Given the description of an element on the screen output the (x, y) to click on. 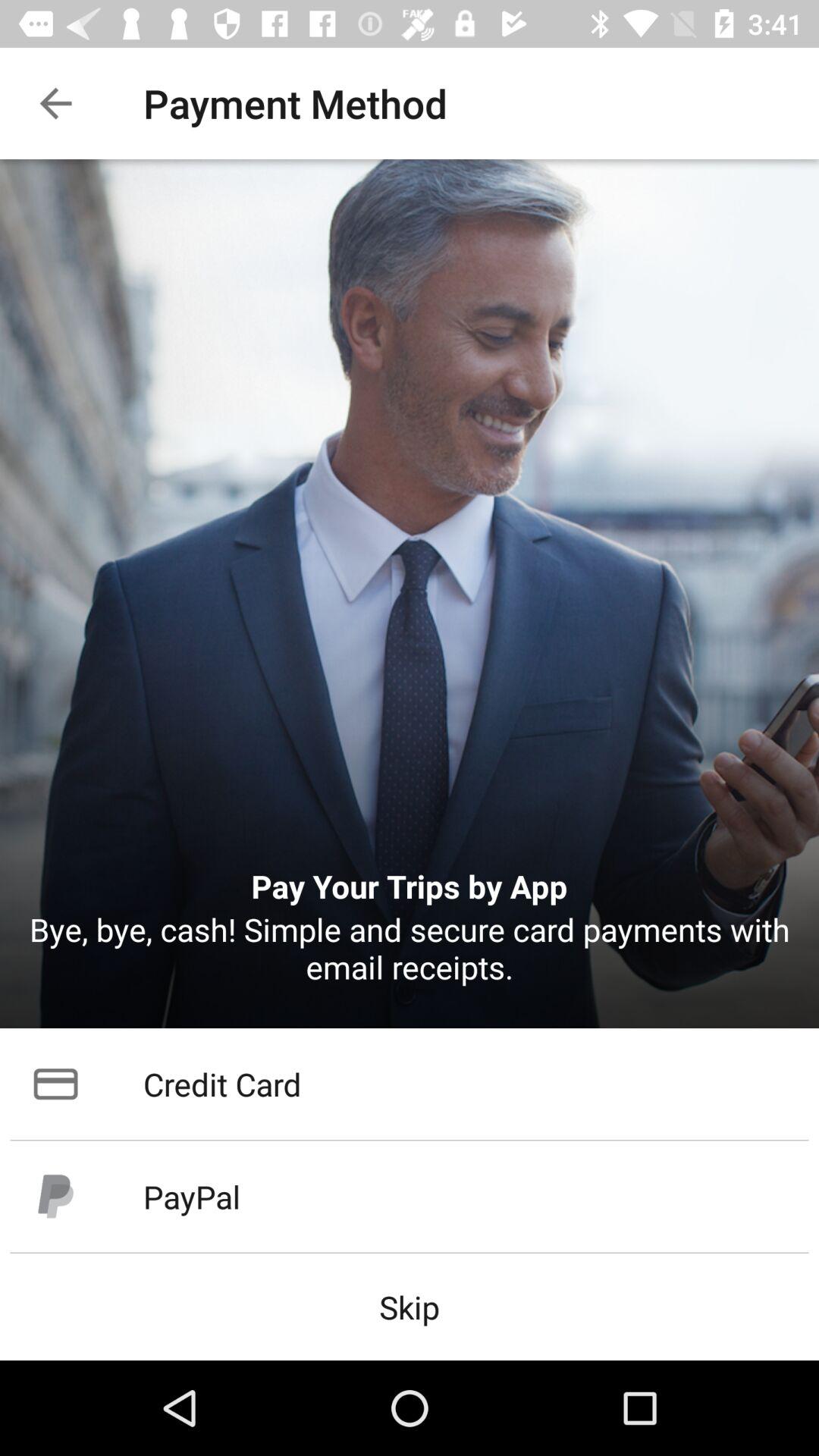
turn on the icon above the skip (409, 1196)
